Given the description of an element on the screen output the (x, y) to click on. 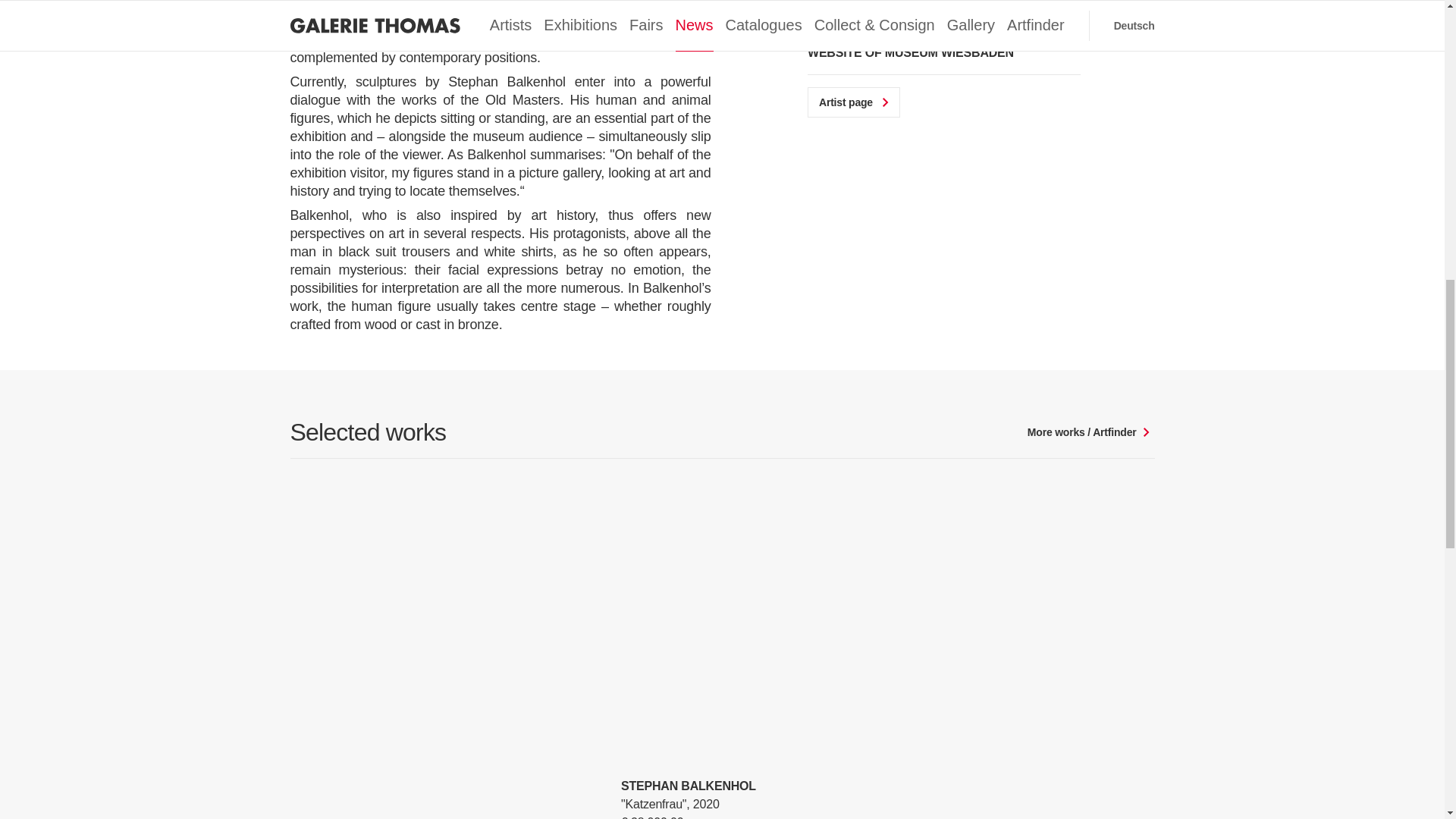
WEBSITE OF MUSEUM WIESBADEN (944, 53)
Artist page (853, 101)
